Given the description of an element on the screen output the (x, y) to click on. 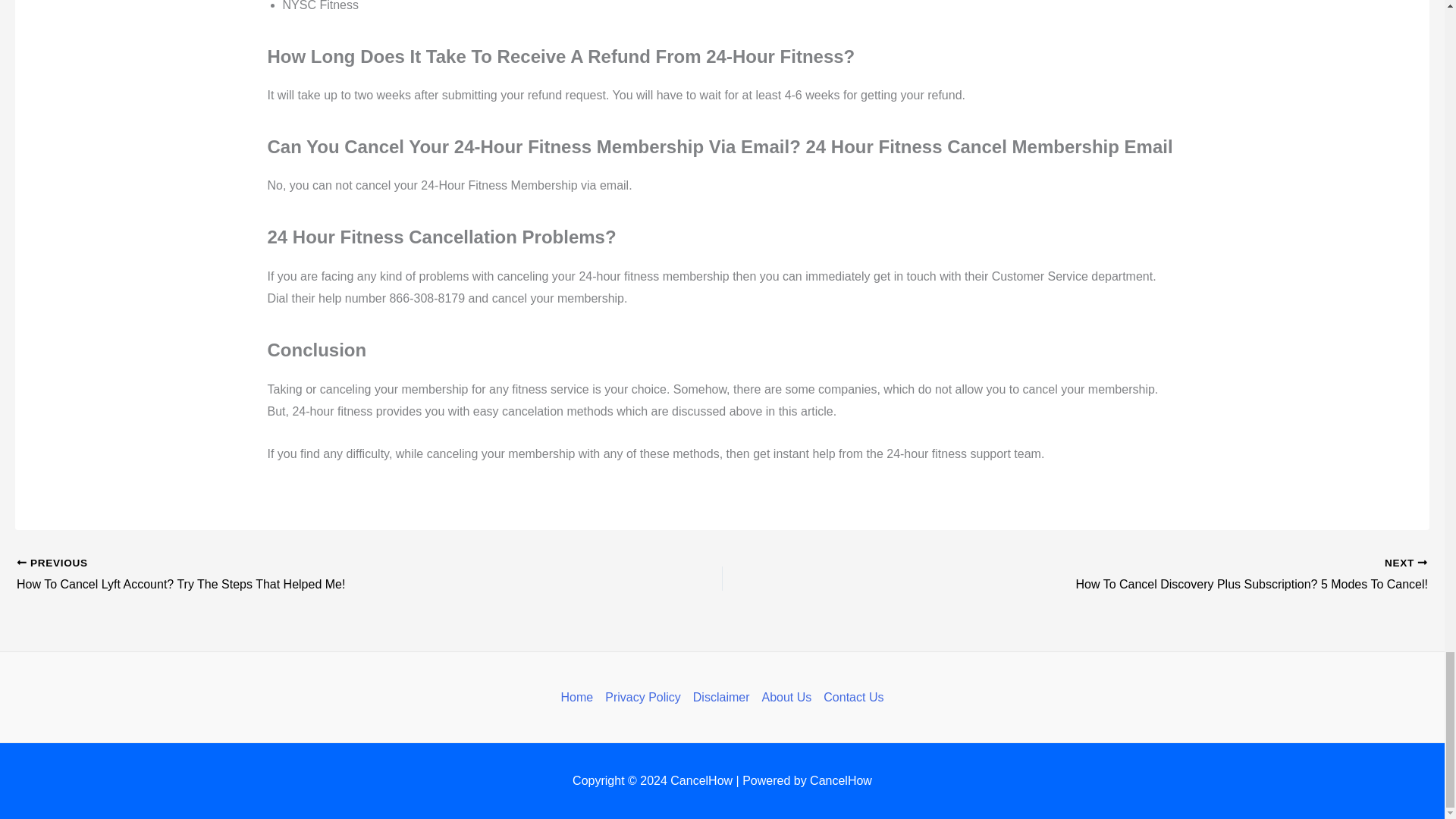
Home (579, 697)
About Us (785, 697)
Privacy Policy (642, 697)
Disclaimer (721, 697)
